Given the description of an element on the screen output the (x, y) to click on. 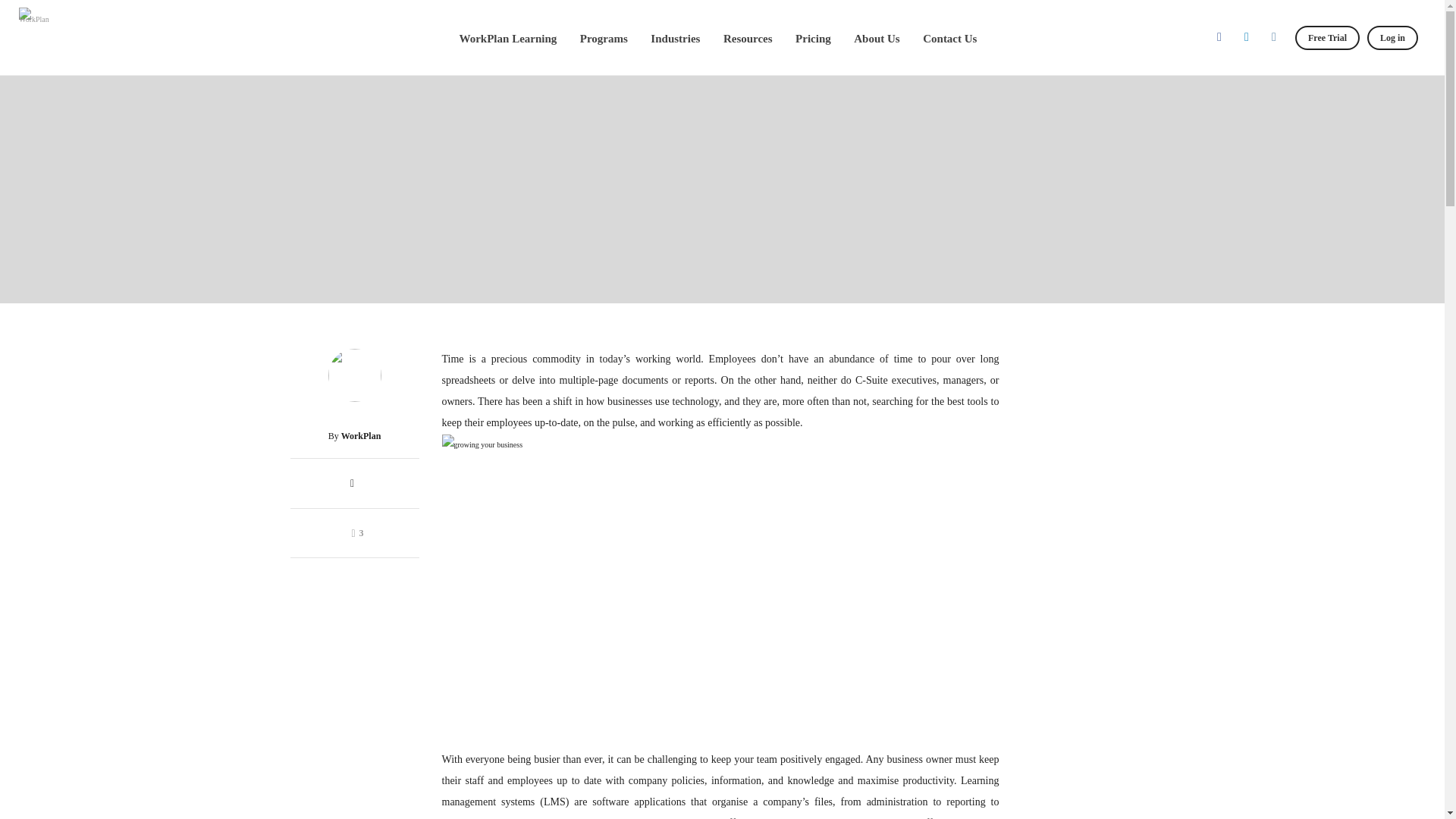
Resources (747, 38)
Contact Us (949, 38)
WorkPlan Learning (508, 38)
Programs (604, 38)
About Us (877, 38)
Industries (675, 38)
